Given the description of an element on the screen output the (x, y) to click on. 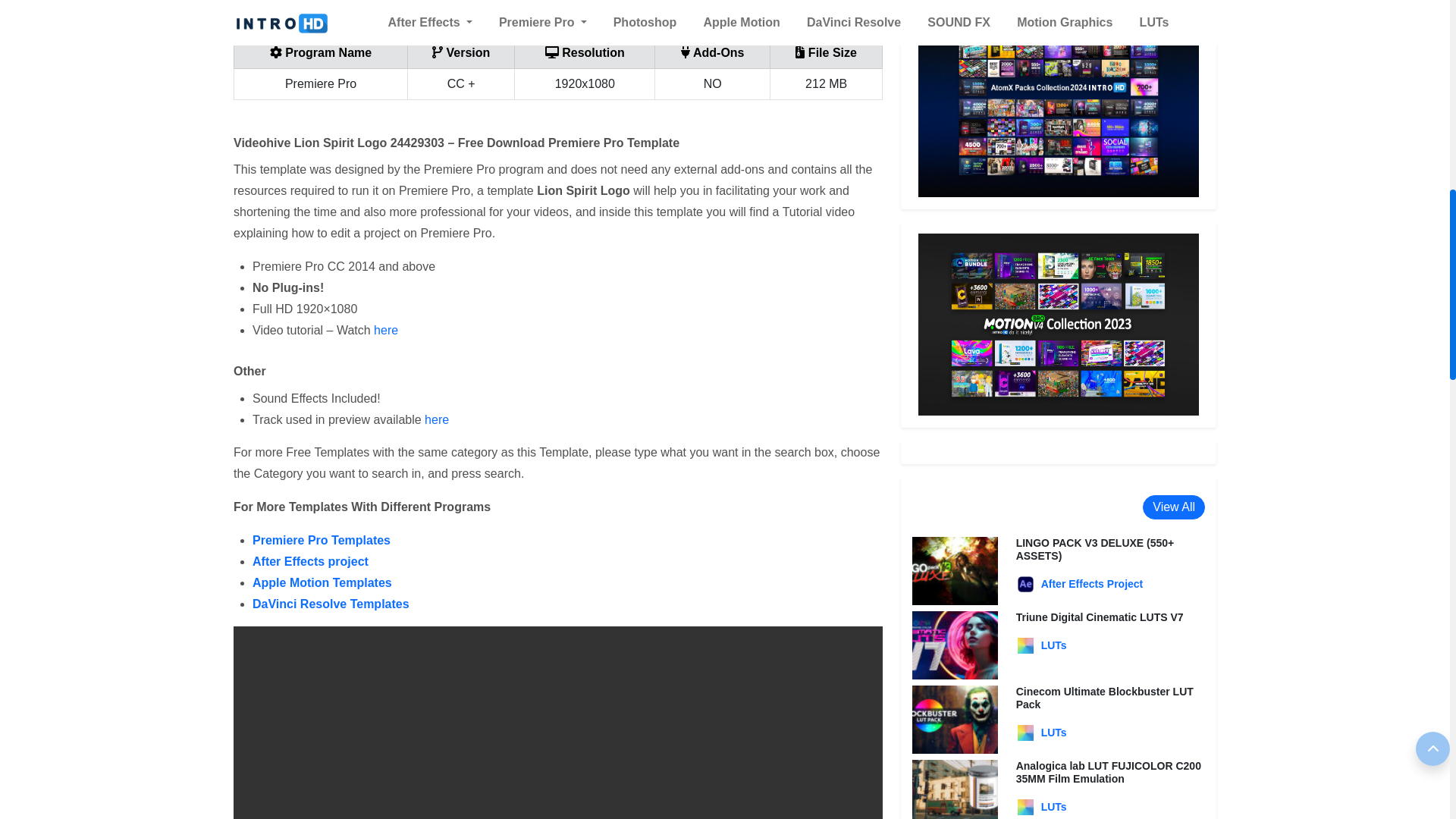
Download Now (723, 12)
After Effects project (309, 561)
here (436, 419)
here (385, 329)
DaVinci Resolve Templates (330, 603)
Apple Motion Templates (321, 582)
Premiere Pro Templates (320, 540)
